Given the description of an element on the screen output the (x, y) to click on. 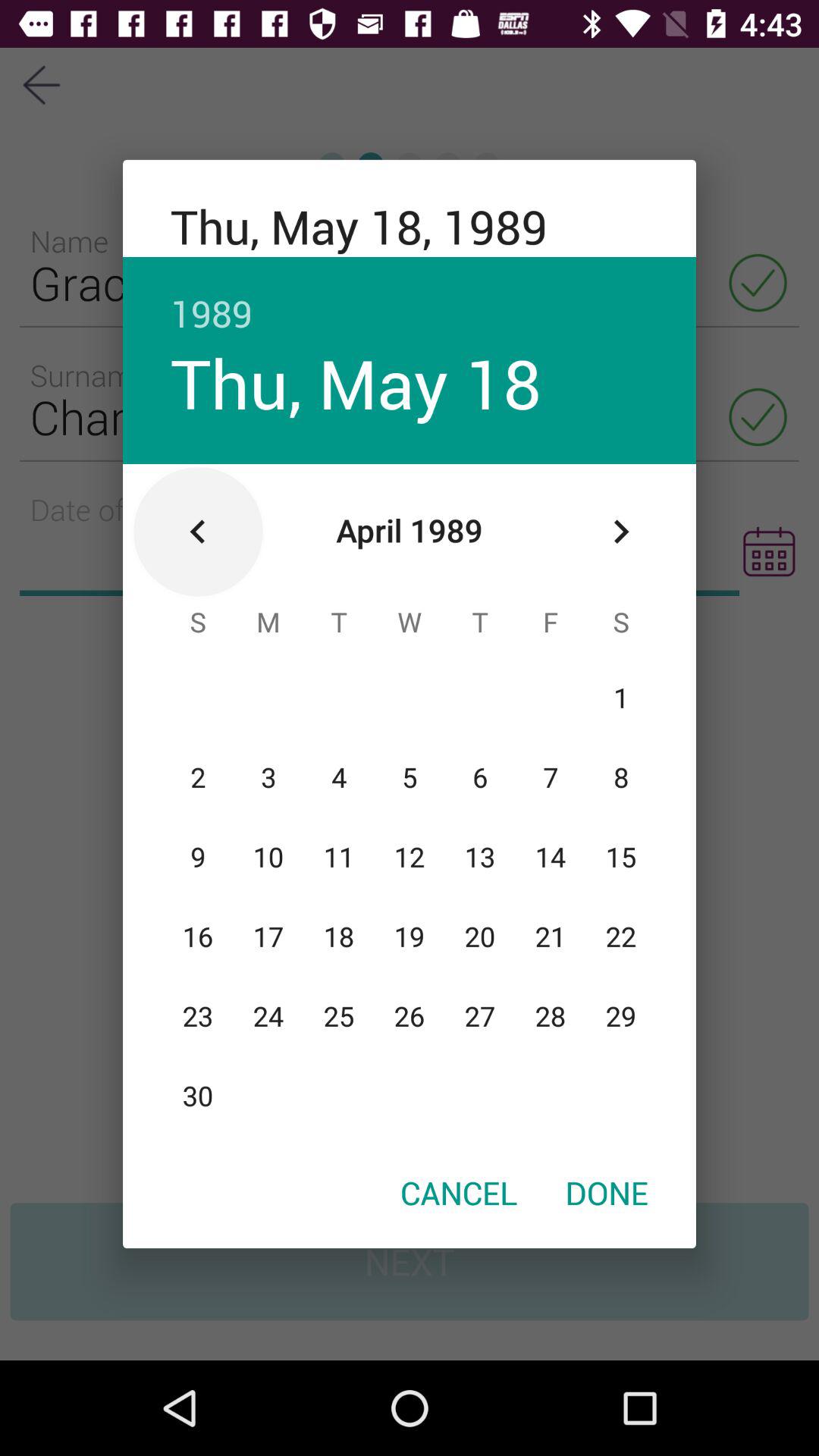
open the item on the left (197, 531)
